Given the description of an element on the screen output the (x, y) to click on. 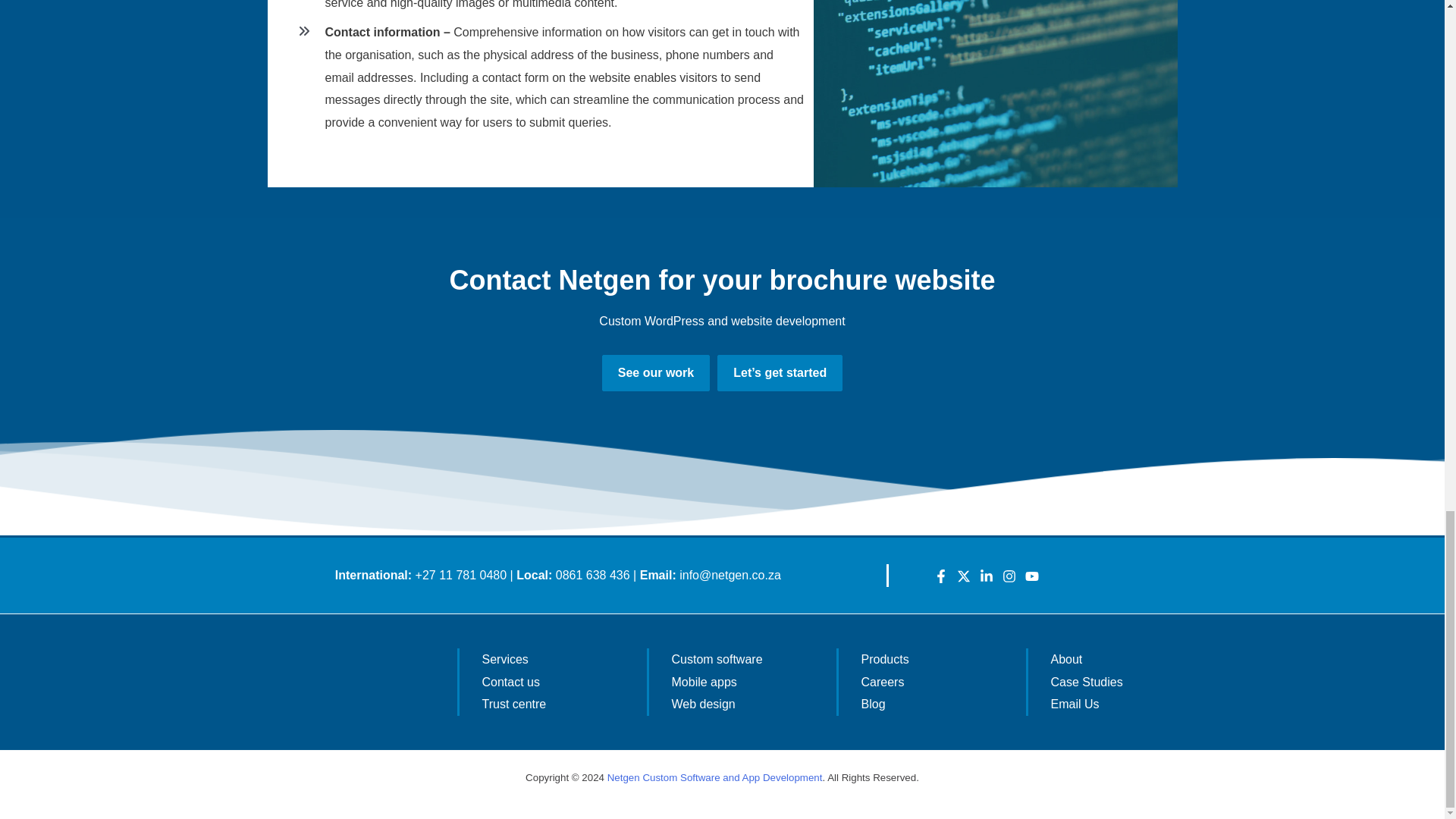
0861 638 436 (593, 574)
See our work (656, 372)
